Given the description of an element on the screen output the (x, y) to click on. 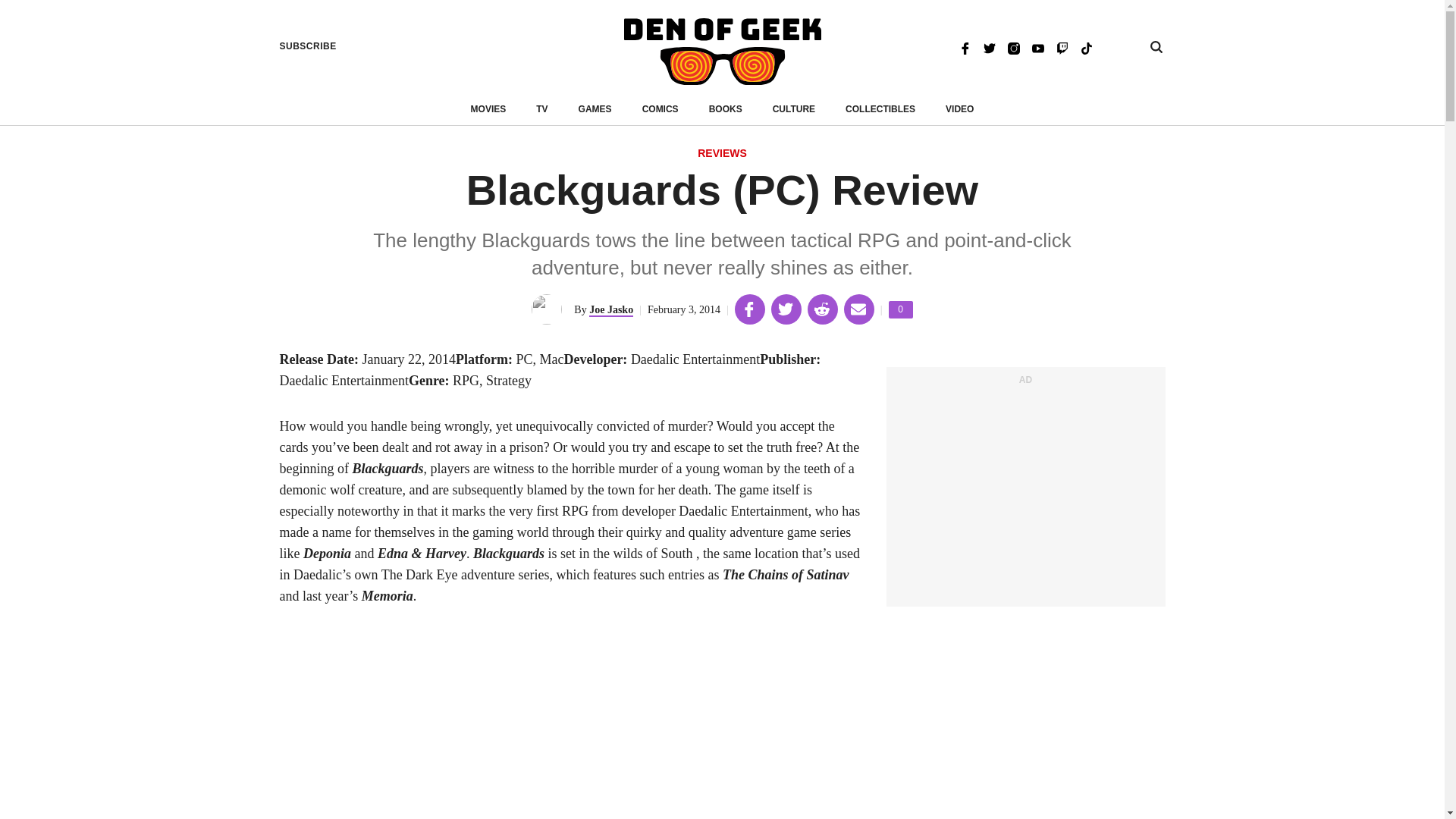
Den of Geek (722, 52)
MOVIES (488, 109)
Twitch (1061, 46)
COMICS (660, 109)
SUBSCRIBE (307, 46)
TikTok (1085, 46)
REVIEWS (721, 153)
COLLECTIBLES (880, 109)
Twitter (988, 46)
